Given the description of an element on the screen output the (x, y) to click on. 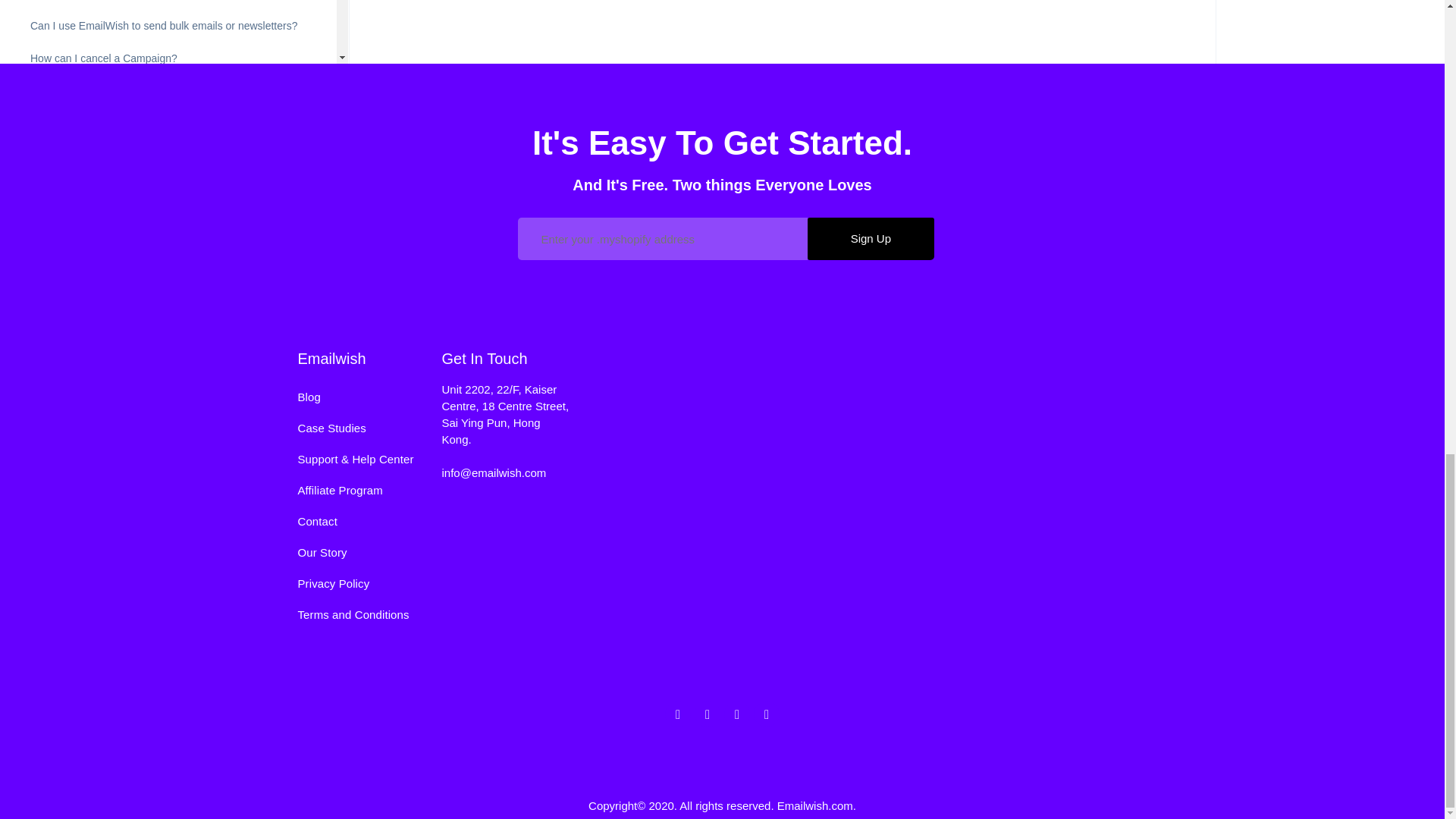
Can one account have multiple stores? (122, 499)
How can I cancel a Campaign? (103, 57)
What is the best way to build an email list? (130, 381)
What does the CAN SPAM act have to do with email marketing? (173, 308)
How to schedule my emails right with Emailwish? (146, 235)
How can i know if the emails are delivered? (132, 122)
Can emailwish create store coupons? (118, 467)
How long does it take to get these campaigns live? (149, 203)
Can I use EmailWish to send bulk emails or newsletters? (163, 25)
